Given the description of an element on the screen output the (x, y) to click on. 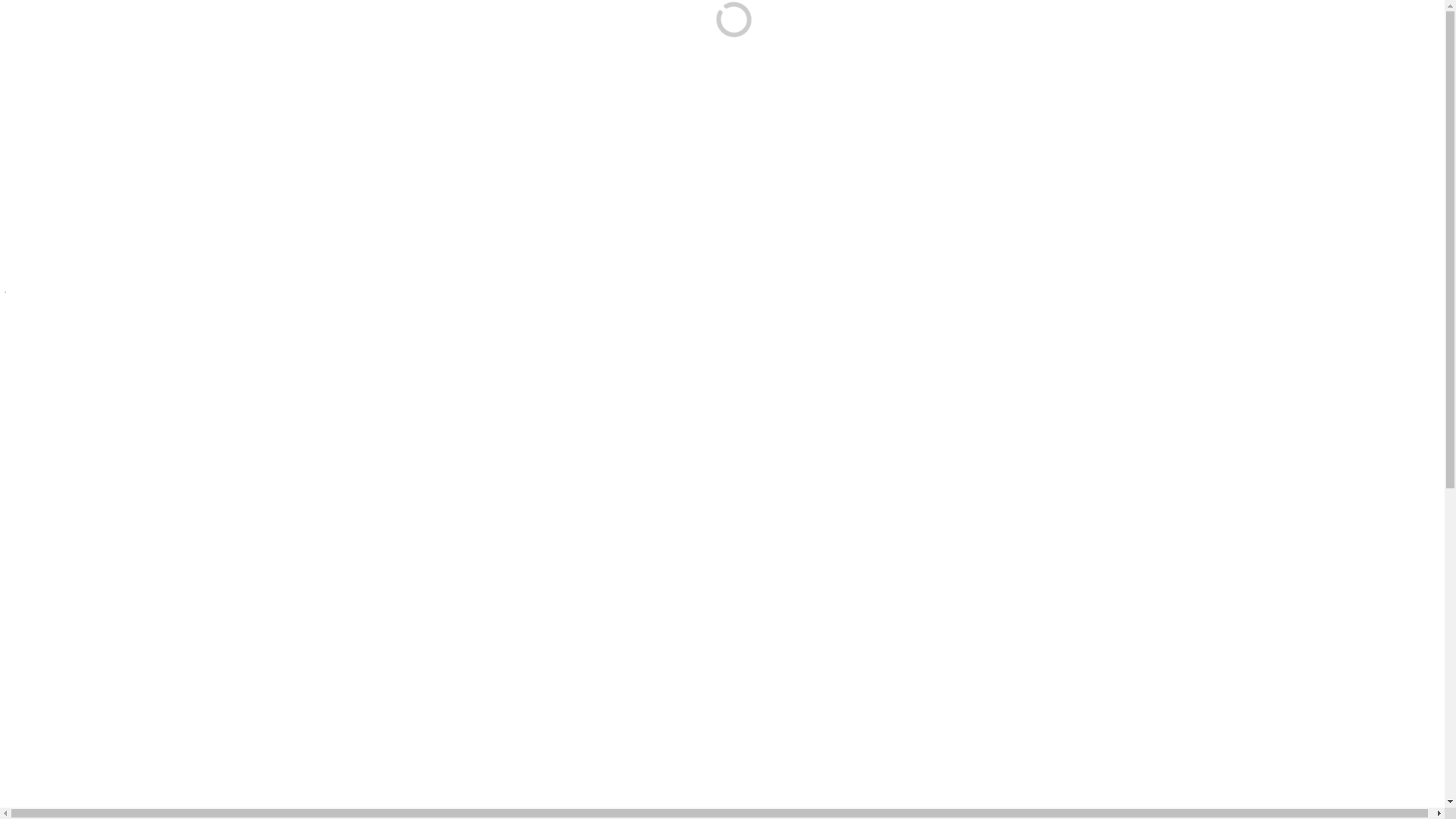
Enough Window Shopping! Element type: text (1056, 357)
JD Lands at MidCity Element type: text (1036, 304)
Sign Up Element type: text (1206, 668)
Mimco Element type: text (310, 478)
HOME Element type: text (741, 33)
LEASING Element type: text (1107, 33)
Tissot Element type: text (240, 478)
Follow on Instagram Element type: text (1208, 495)
SHOP Element type: text (820, 33)
INFO Element type: text (893, 33)
Check out this video Element type: text (56, 789)
Swarovski Element type: text (523, 478)
Finding your sole-mate Element type: text (1043, 330)
